Given the description of an element on the screen output the (x, y) to click on. 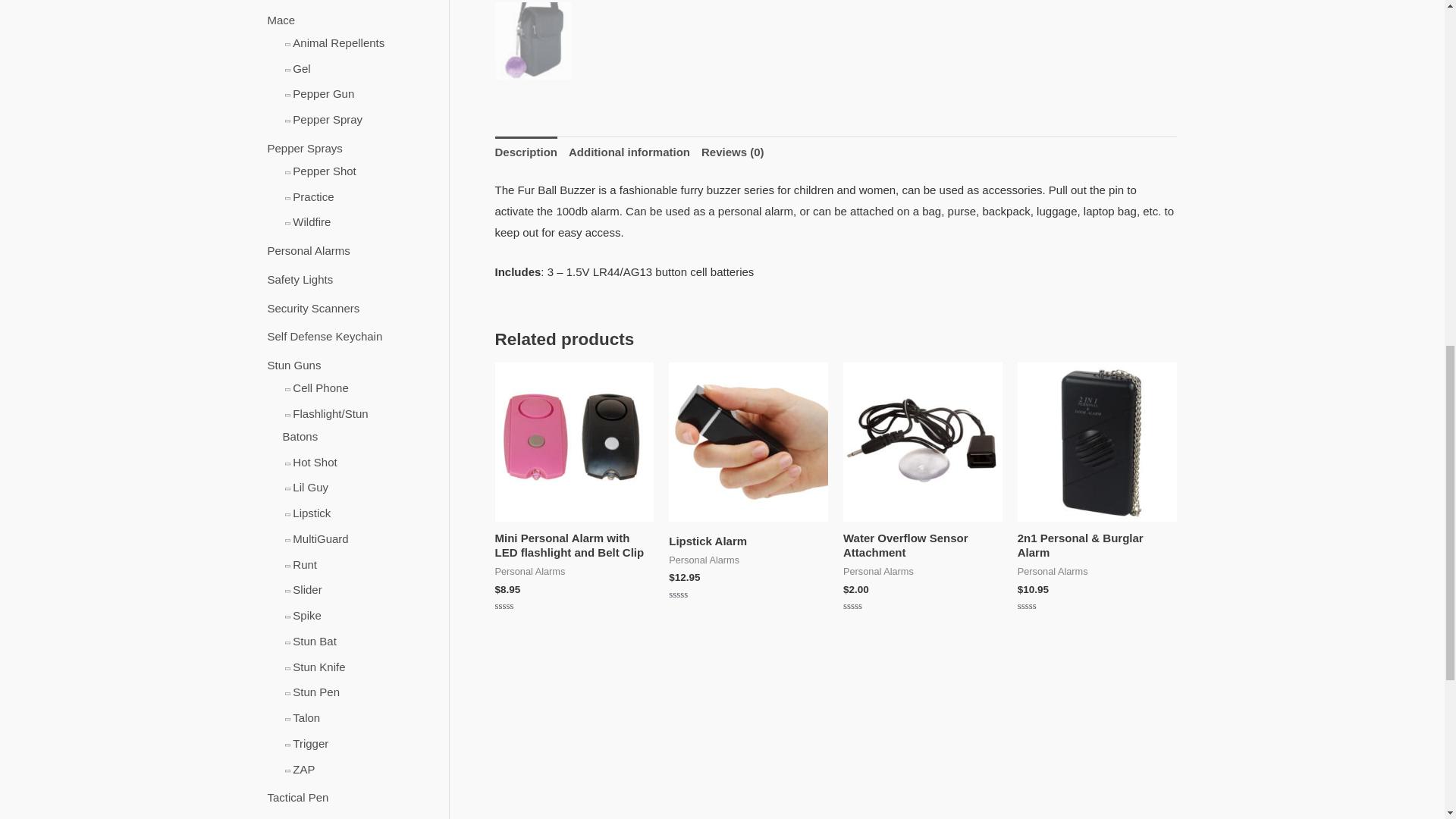
Safety Lights (299, 278)
Stun Guns (293, 364)
PAL-120-Group - Total Personal Protection (574, 441)
Personal Alarms (307, 250)
Pepper Spray (327, 119)
Animal Repellents (338, 42)
Pepper Sprays (304, 147)
Pepper Shot (323, 170)
Security Scanners (312, 308)
Pepper Gun (322, 92)
Gel (301, 68)
Practice (312, 196)
Self Defense Keychain (323, 336)
Wildfire (311, 221)
Mace (280, 19)
